Given the description of an element on the screen output the (x, y) to click on. 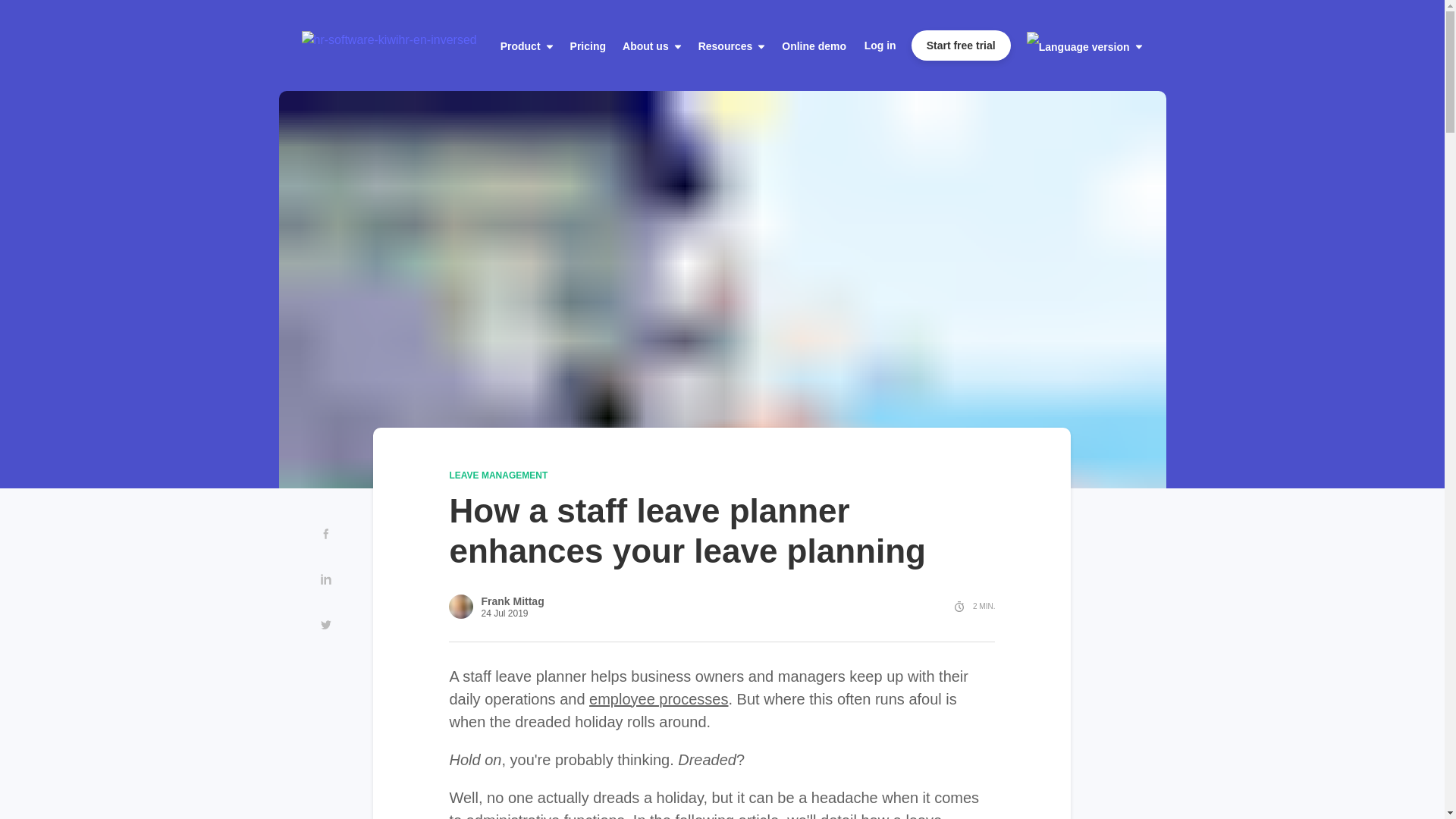
Pricing (500, 46)
Log in (880, 45)
About us (565, 46)
Product (439, 46)
Sign in (880, 45)
Online demo (727, 46)
Resources (645, 46)
hr-software-kiwihr-en-inversed (345, 45)
Start free trial (960, 45)
Try for free (960, 45)
